Given the description of an element on the screen output the (x, y) to click on. 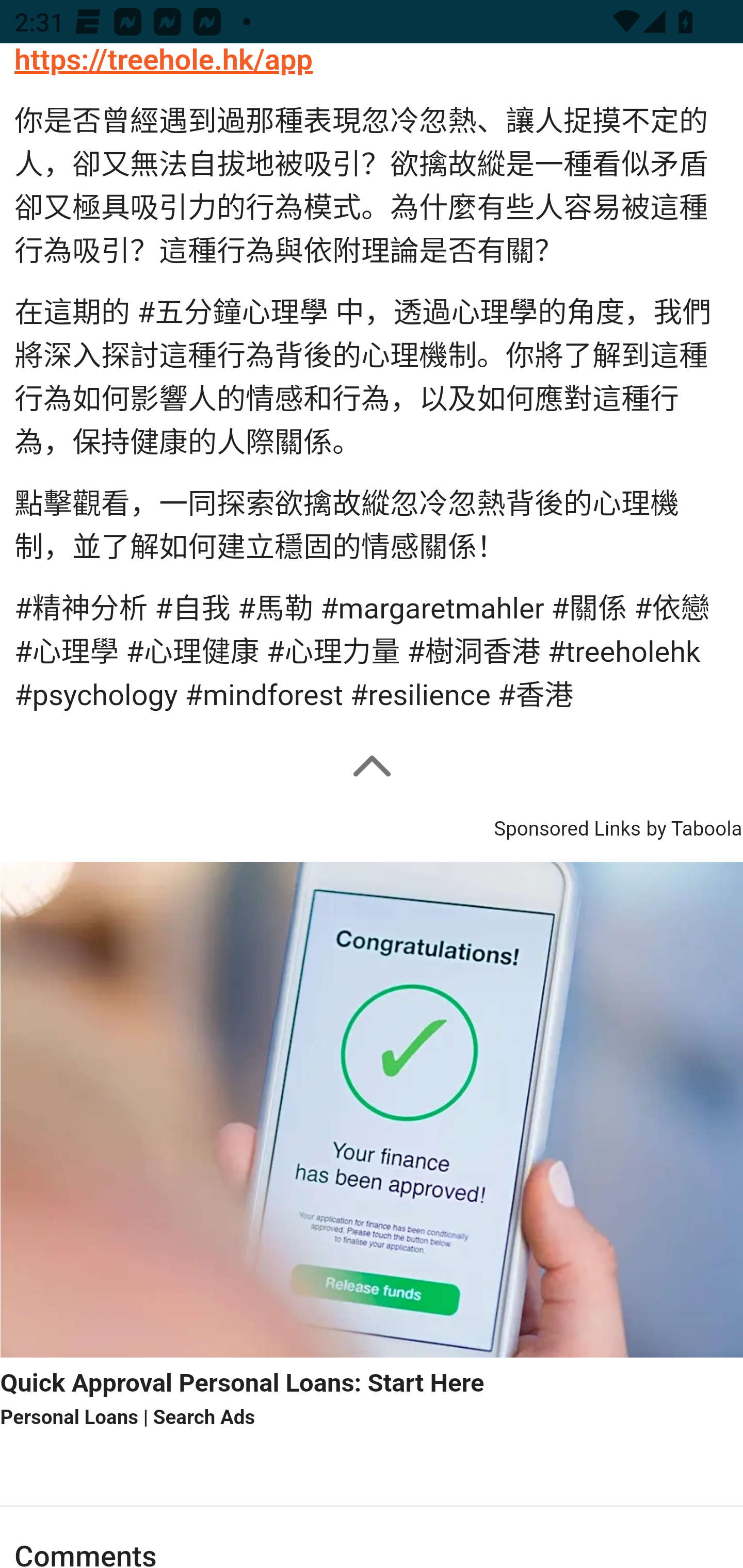
https://treehole.hk/app (164, 60)
Sponsored Links (566, 826)
by Taboola (693, 826)
